Given the description of an element on the screen output the (x, y) to click on. 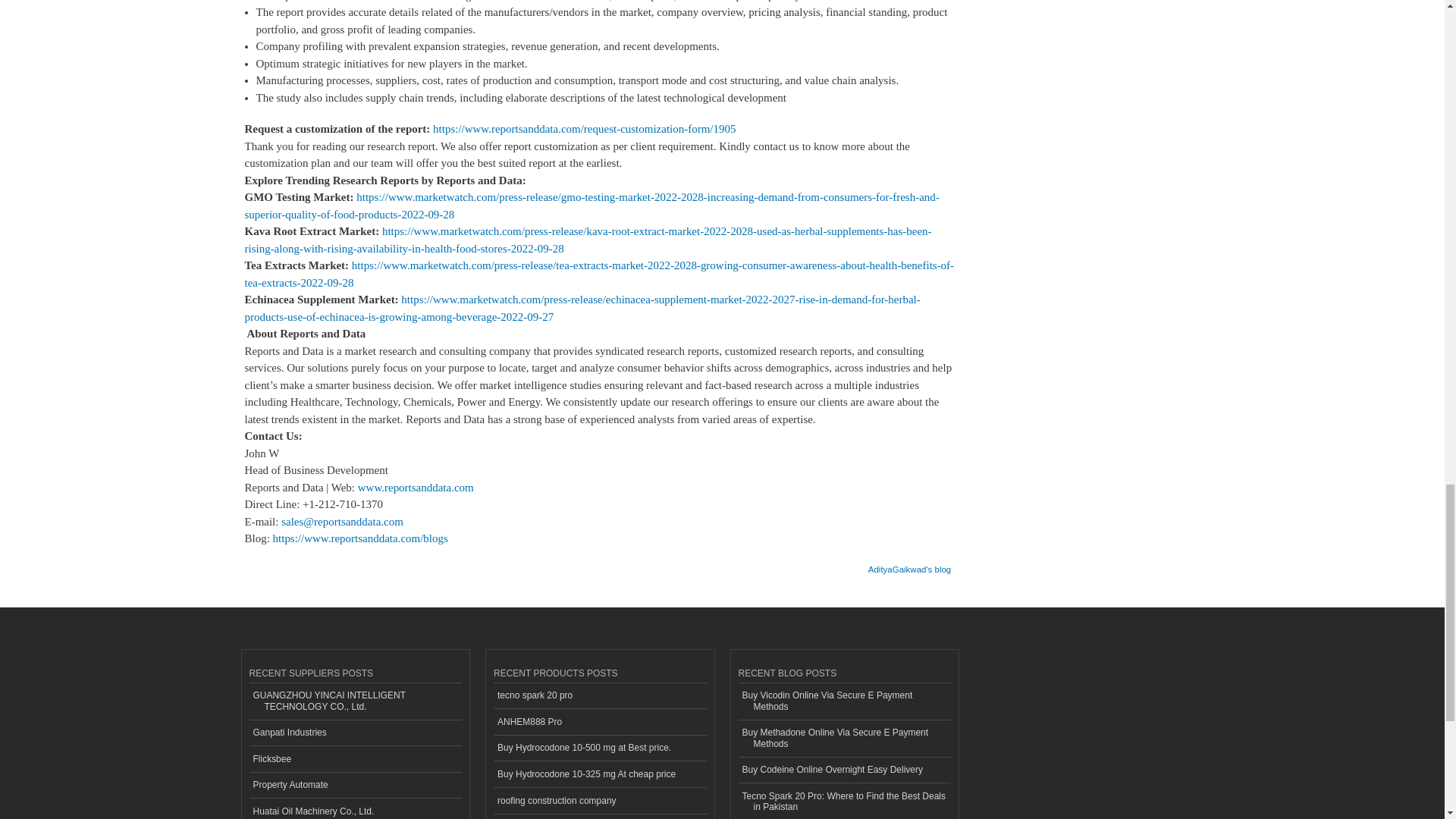
Property Automate (354, 786)
GUANGZHOU YINCAI INTELLIGENT TECHNOLOGY CO., Ltd. (354, 701)
Huatai Oil Machinery Co., Ltd. (354, 808)
Read AdityaGaikwad's latest blog entries. (908, 564)
Flicksbee (354, 759)
Ganpati Industries (354, 733)
AdityaGaikwad's blog (908, 564)
www.reportsanddata.com (416, 487)
